Given the description of an element on the screen output the (x, y) to click on. 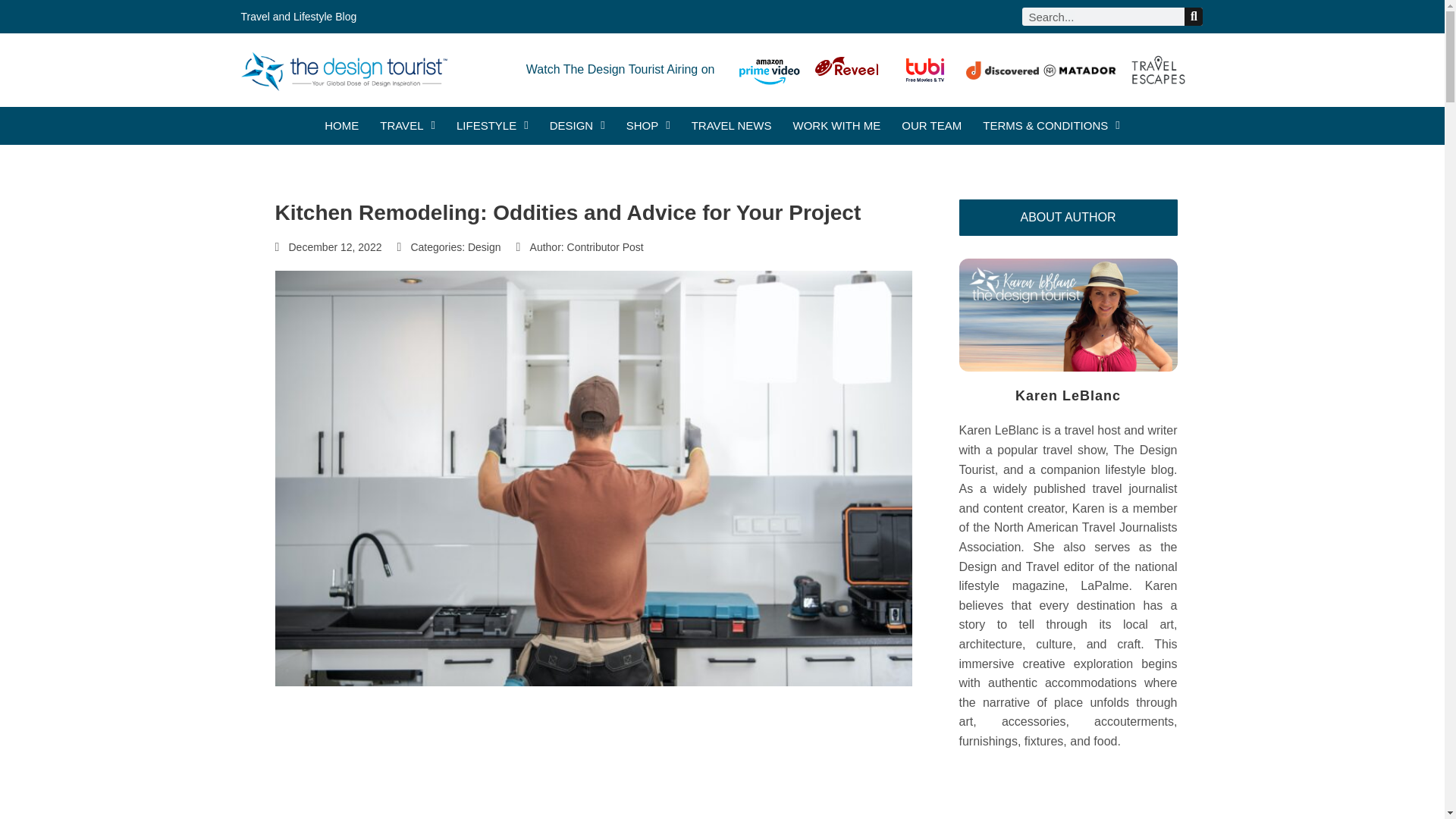
WORK WITH ME (836, 125)
TRAVEL NEWS (731, 125)
Advertisement (1067, 798)
HOME (341, 125)
Advertisement (593, 775)
LIFESTYLE (492, 125)
OUR TEAM (930, 125)
SHOP (647, 125)
DESIGN (577, 125)
TRAVEL (407, 125)
